Given the description of an element on the screen output the (x, y) to click on. 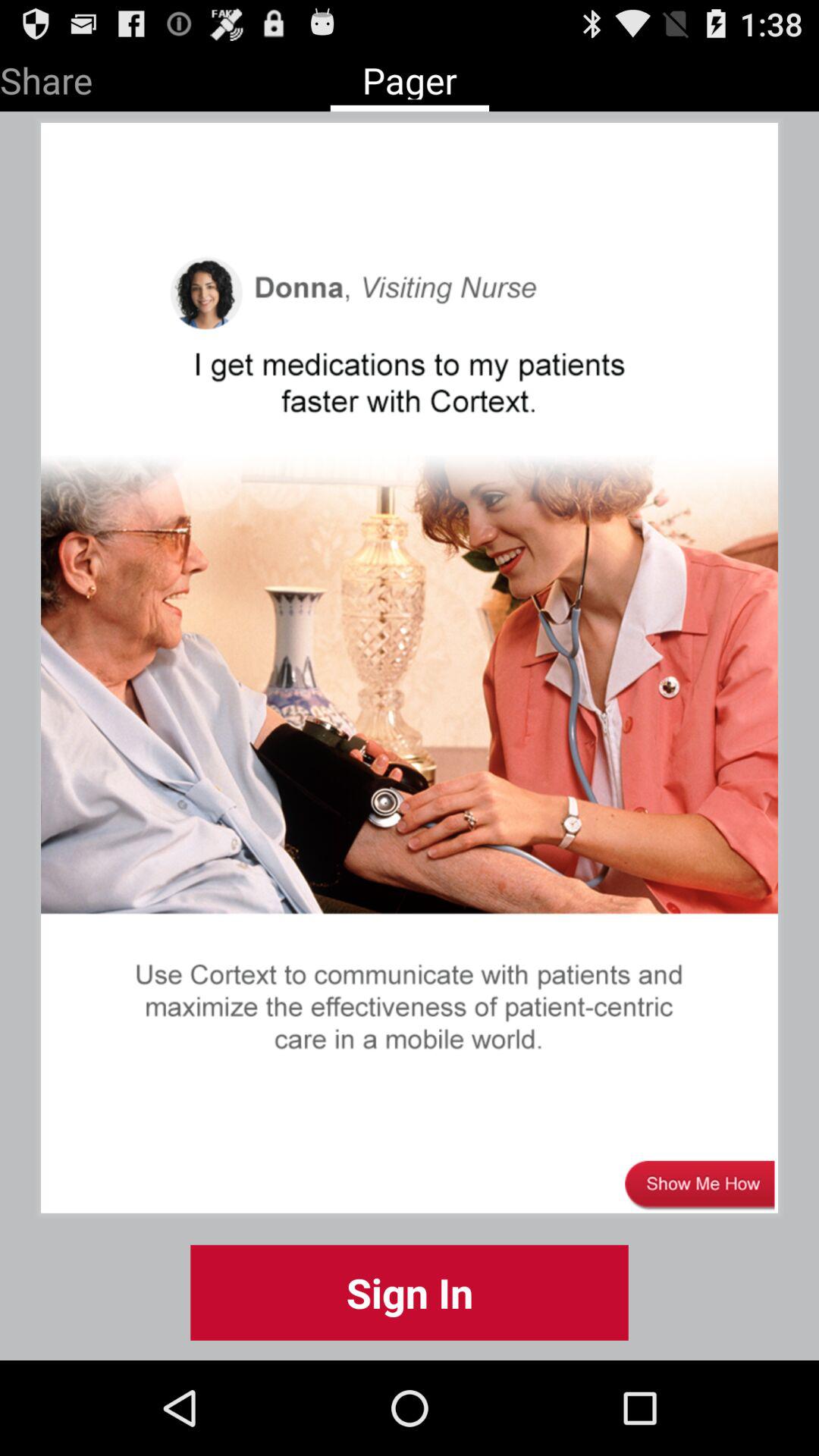
tap the icon to the left of pager icon (46, 77)
